Given the description of an element on the screen output the (x, y) to click on. 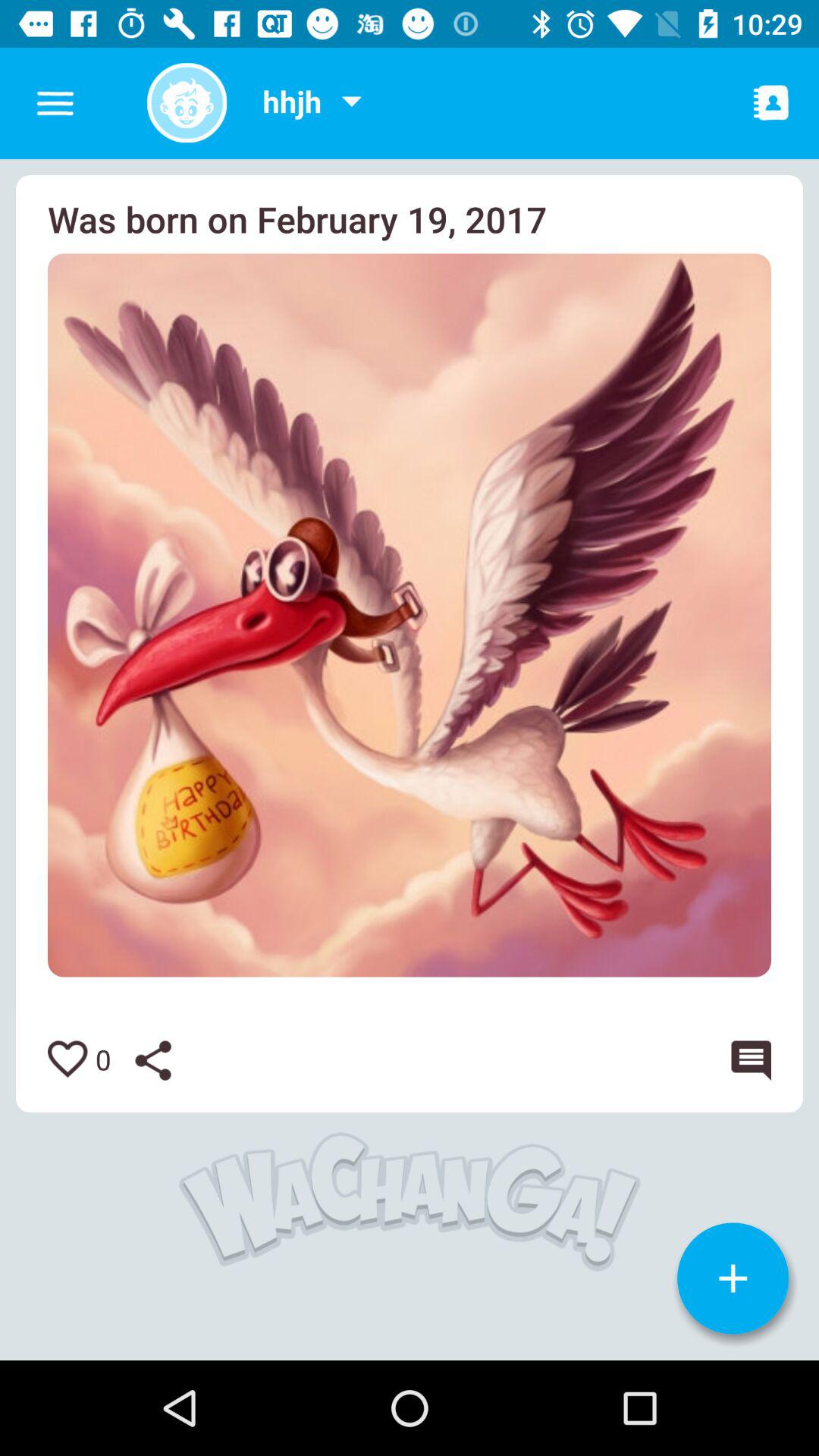
would drop down the name box (351, 102)
